Given the description of an element on the screen output the (x, y) to click on. 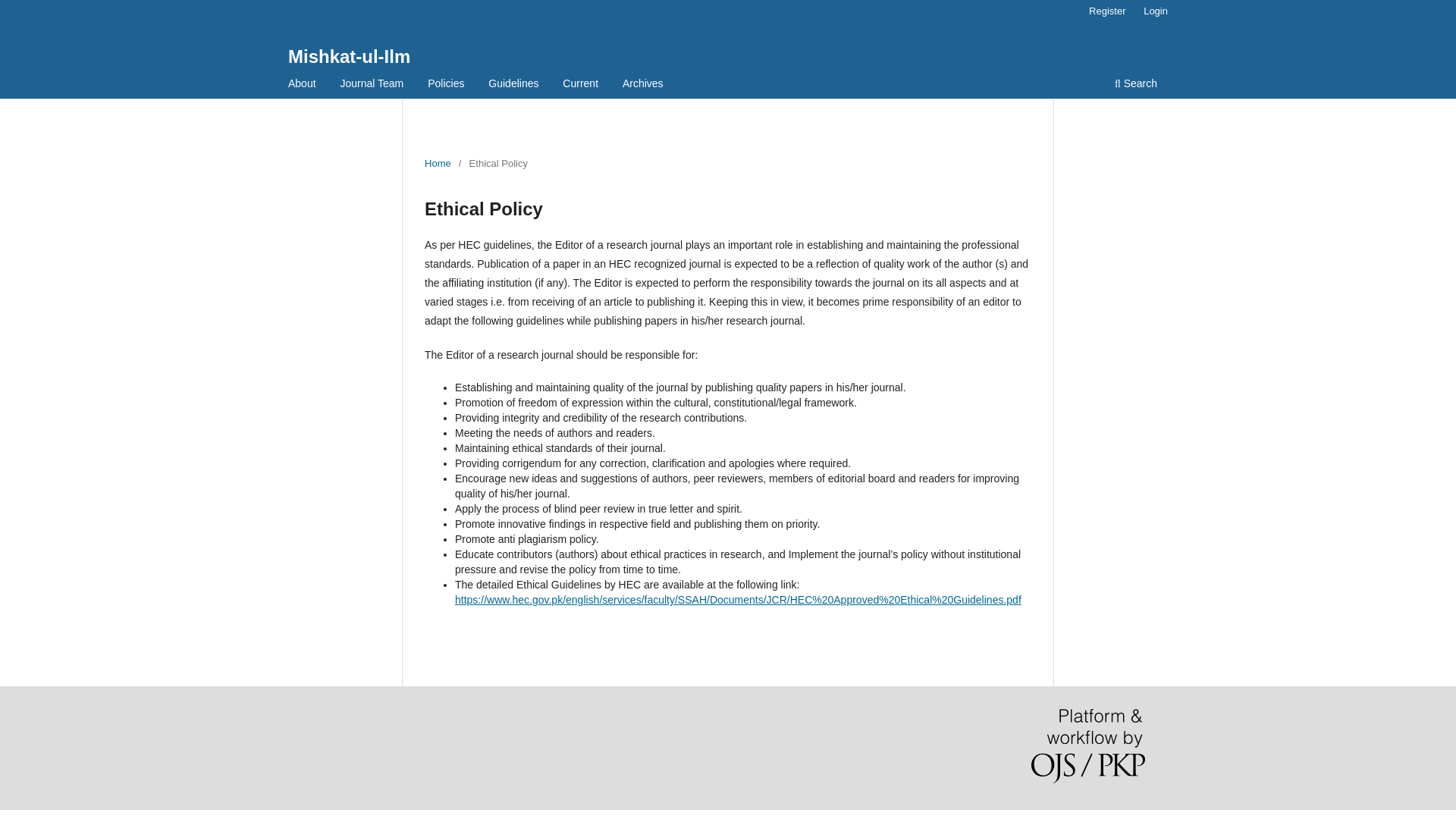
Login (1154, 11)
Search (1135, 85)
Mishkat-ul-Ilm (349, 56)
Current (580, 85)
Home (438, 163)
Policies (445, 85)
Register (1106, 11)
Guidelines (513, 85)
About (301, 85)
Journal Team (371, 85)
